Given the description of an element on the screen output the (x, y) to click on. 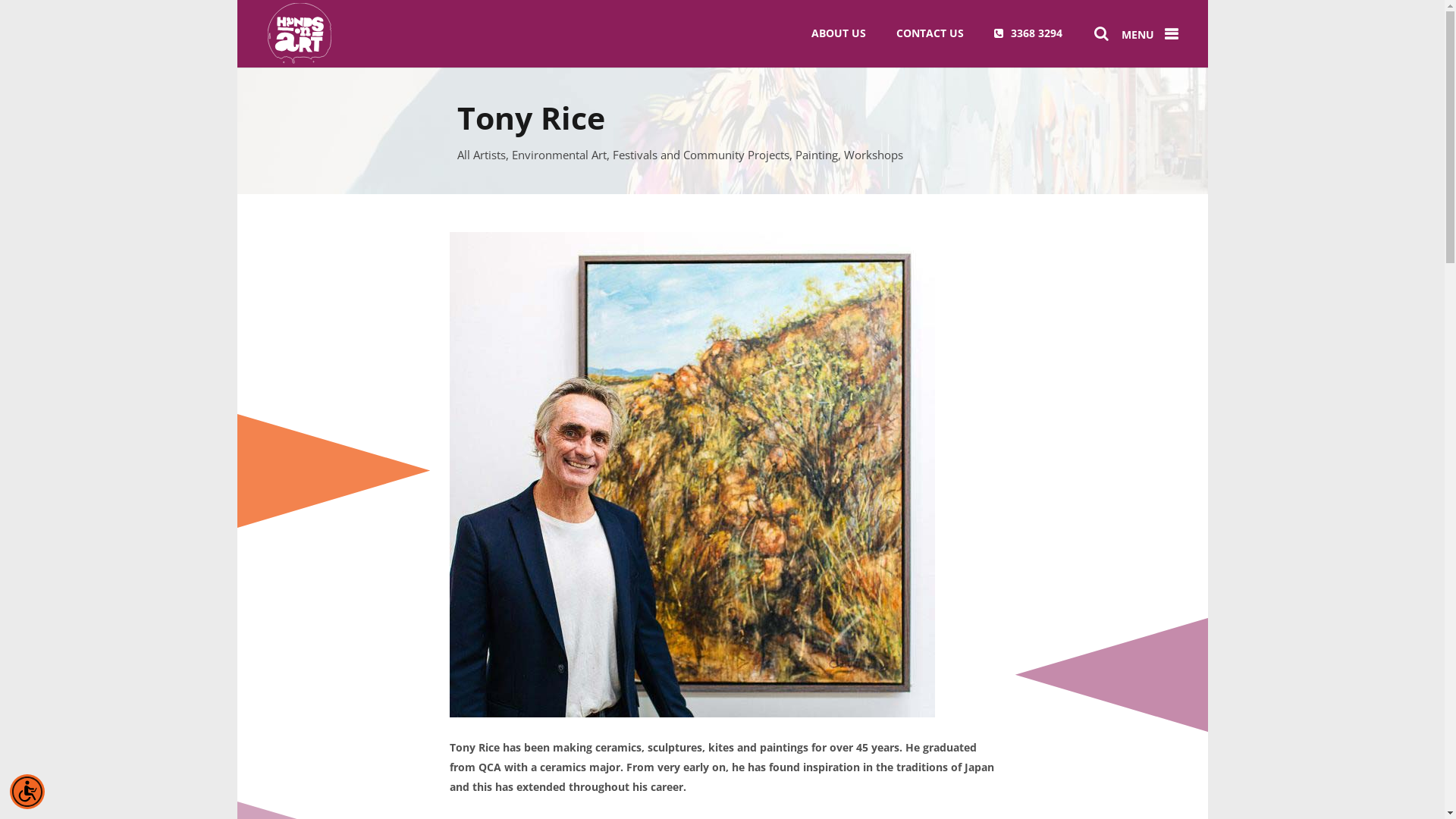
Tony Rice Element type: hover (691, 474)
